Given the description of an element on the screen output the (x, y) to click on. 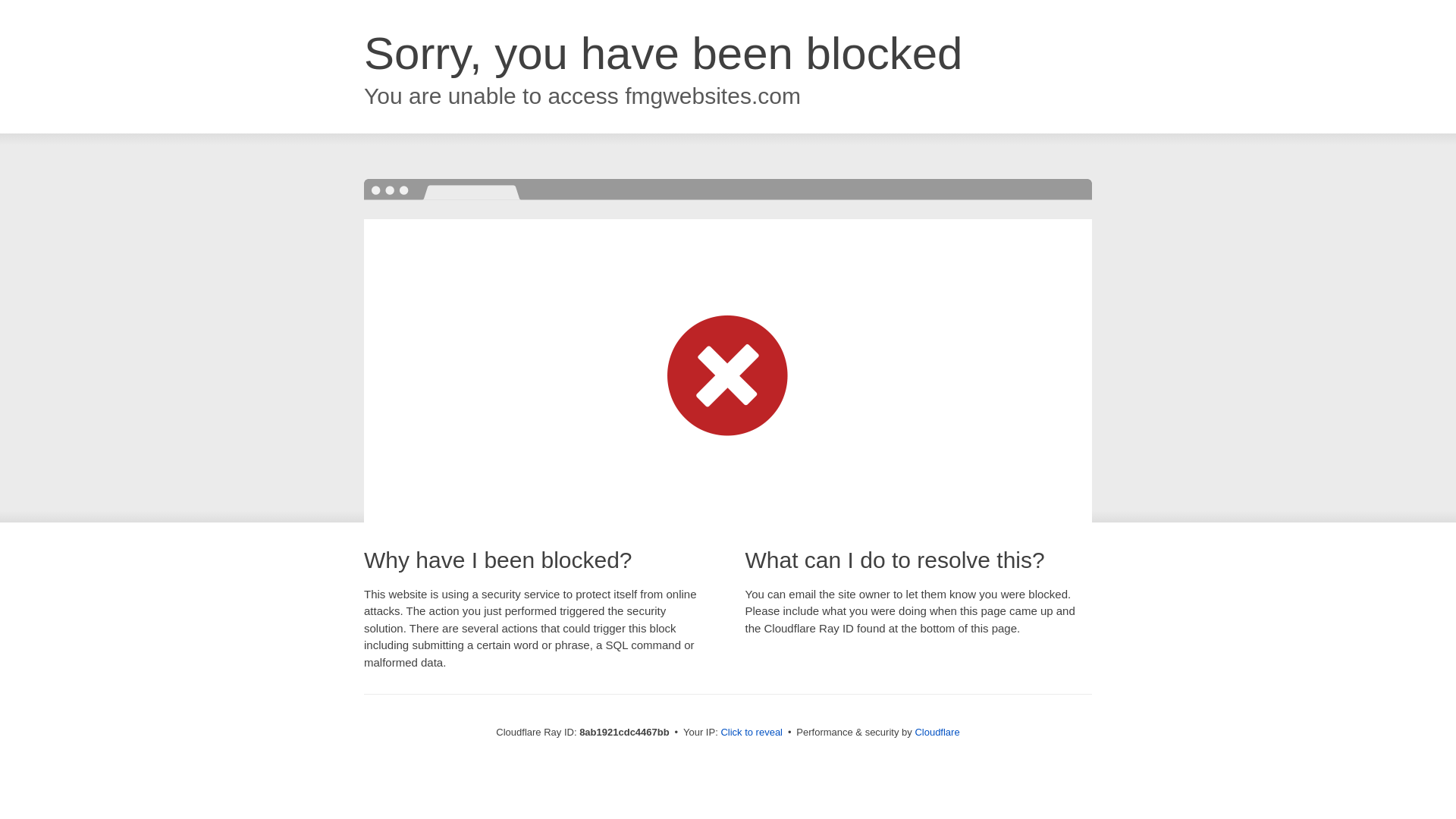
Click to reveal (751, 732)
Cloudflare (936, 731)
